Given the description of an element on the screen output the (x, y) to click on. 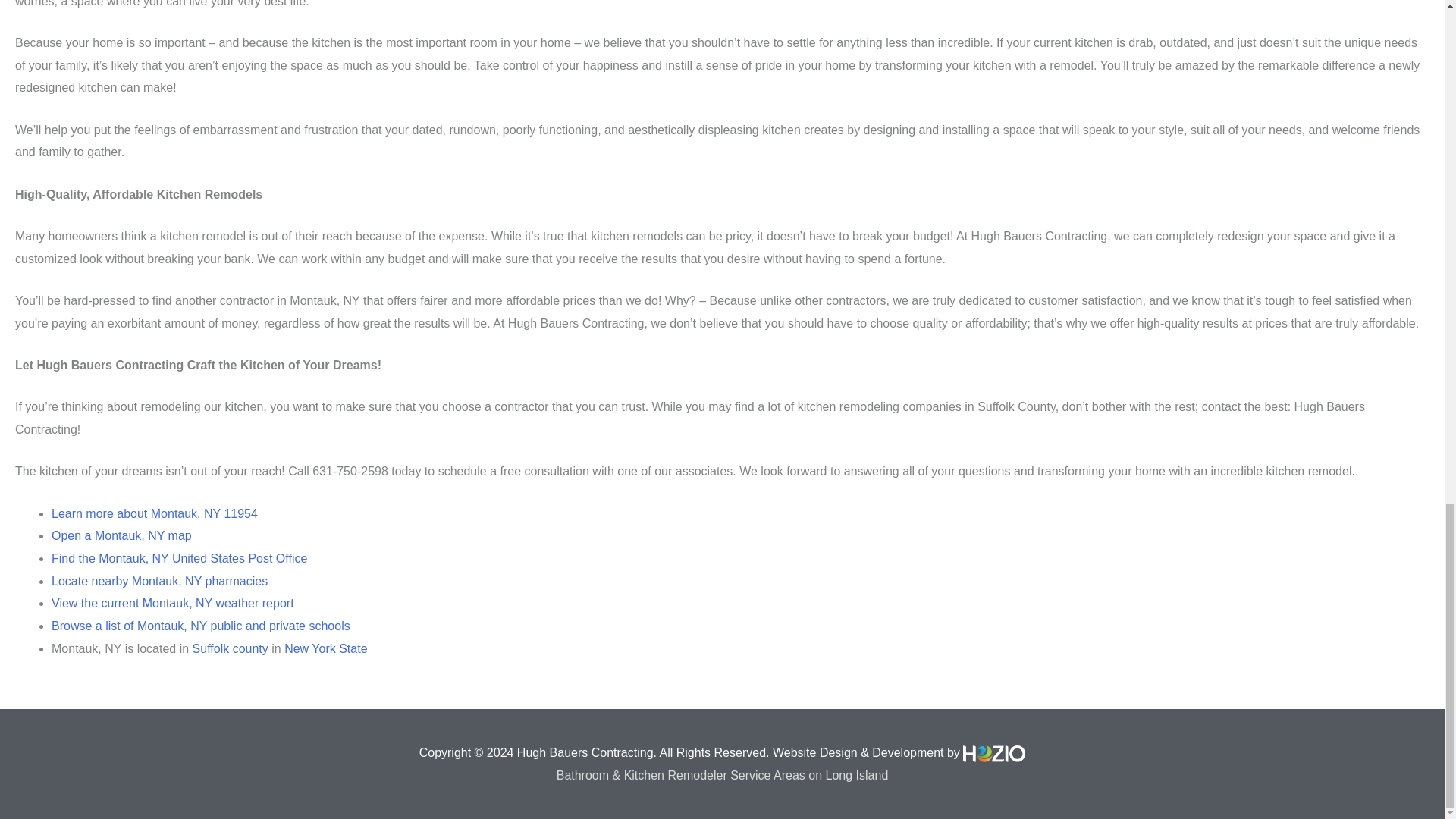
Web Design NYC (993, 753)
Learn more about Montauk, NY 11954 (153, 513)
Suffolk county (229, 648)
New York State (324, 648)
Browse a list of Montauk, NY public and private schools (200, 625)
Find the Montauk, NY United States Post Office (178, 558)
Open a Montauk, NY map (121, 535)
Locate nearby Montauk, NY pharmacies (158, 581)
View the current Montauk, NY weather report (172, 603)
